Given the description of an element on the screen output the (x, y) to click on. 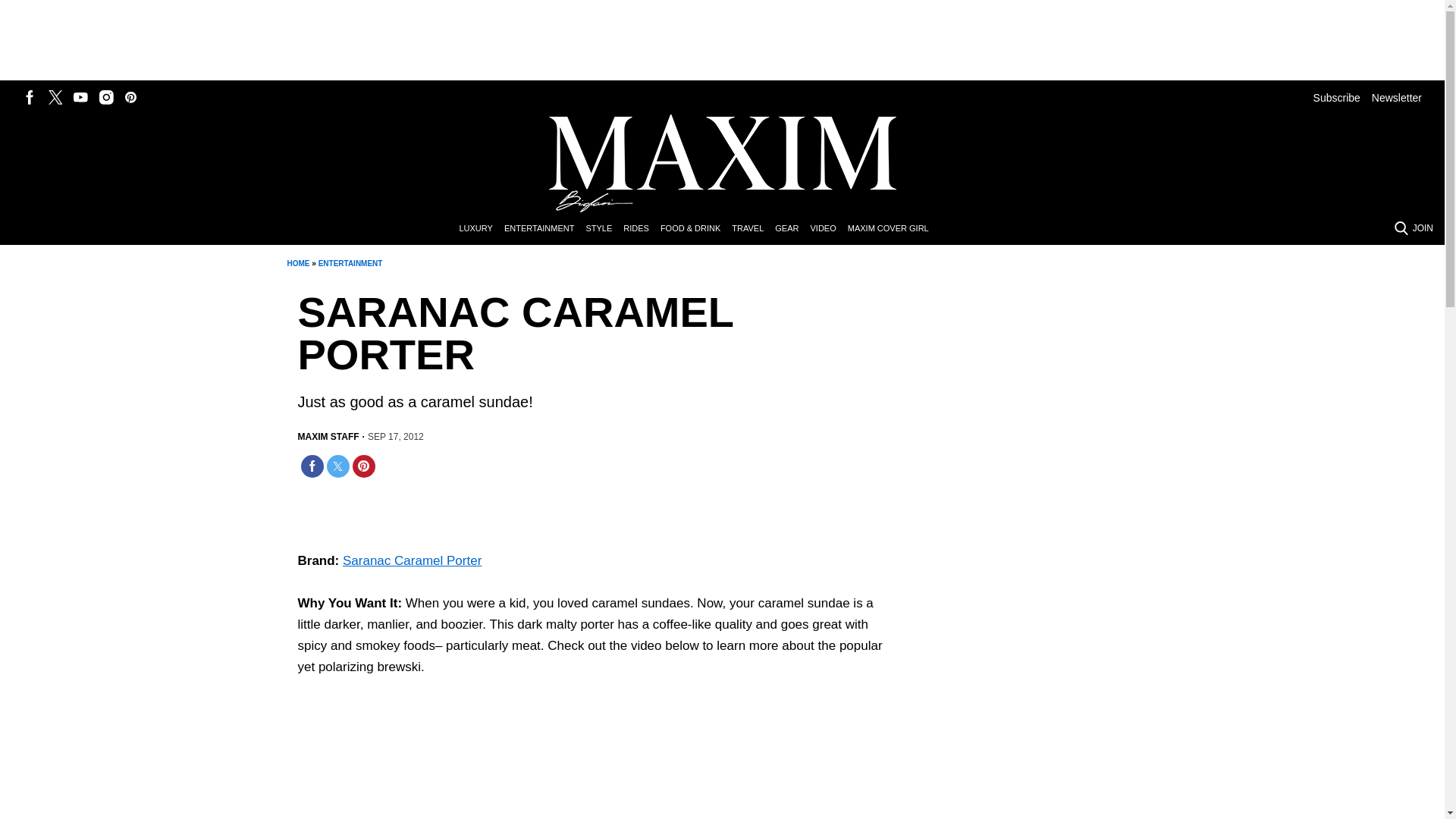
ENTERTAINMENT (544, 228)
Newsletter (1396, 97)
TRAVEL (753, 228)
Share on Twitter (337, 466)
STYLE (604, 228)
Subscribe (1336, 97)
RIDES (642, 228)
Saranac Carmel Porter (487, 765)
LUXURY (480, 228)
Follow us on Youtube (80, 97)
